Given the description of an element on the screen output the (x, y) to click on. 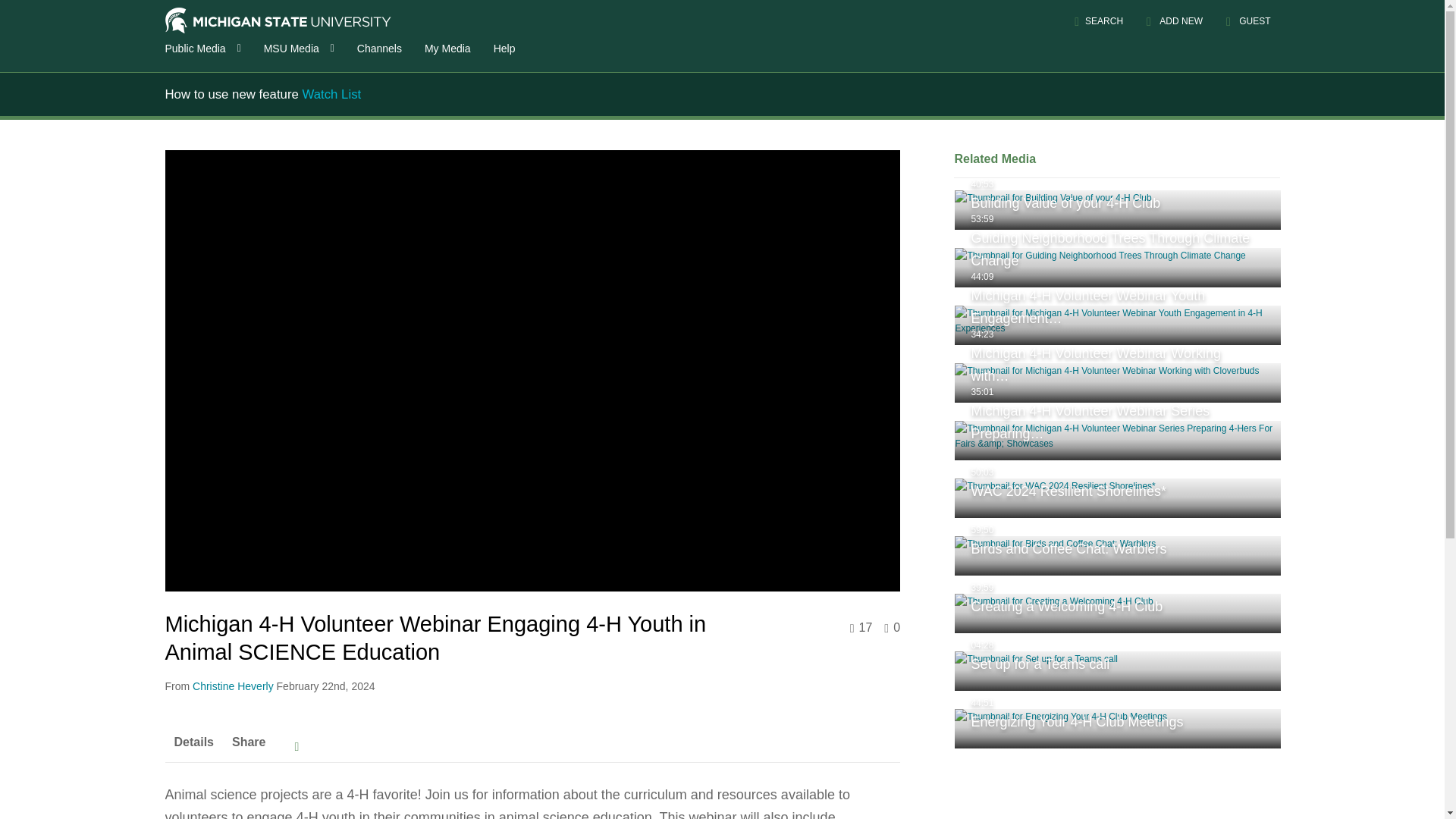
Guiding Neighborhood Trees Through Climate Change (1118, 267)
SEARCH (1098, 21)
Creating a Welcoming 4-H Club (1118, 613)
Energizing Your 4-H Club Meetings (1118, 728)
Michigan 4-H Volunteer Webinar Working with Cloverbuds (1118, 382)
GUEST (1247, 21)
Building Value of your 4-H Club (1118, 210)
Birds and Coffee Chat: Warblers (1118, 555)
ADD NEW (1174, 21)
